Given the description of an element on the screen output the (x, y) to click on. 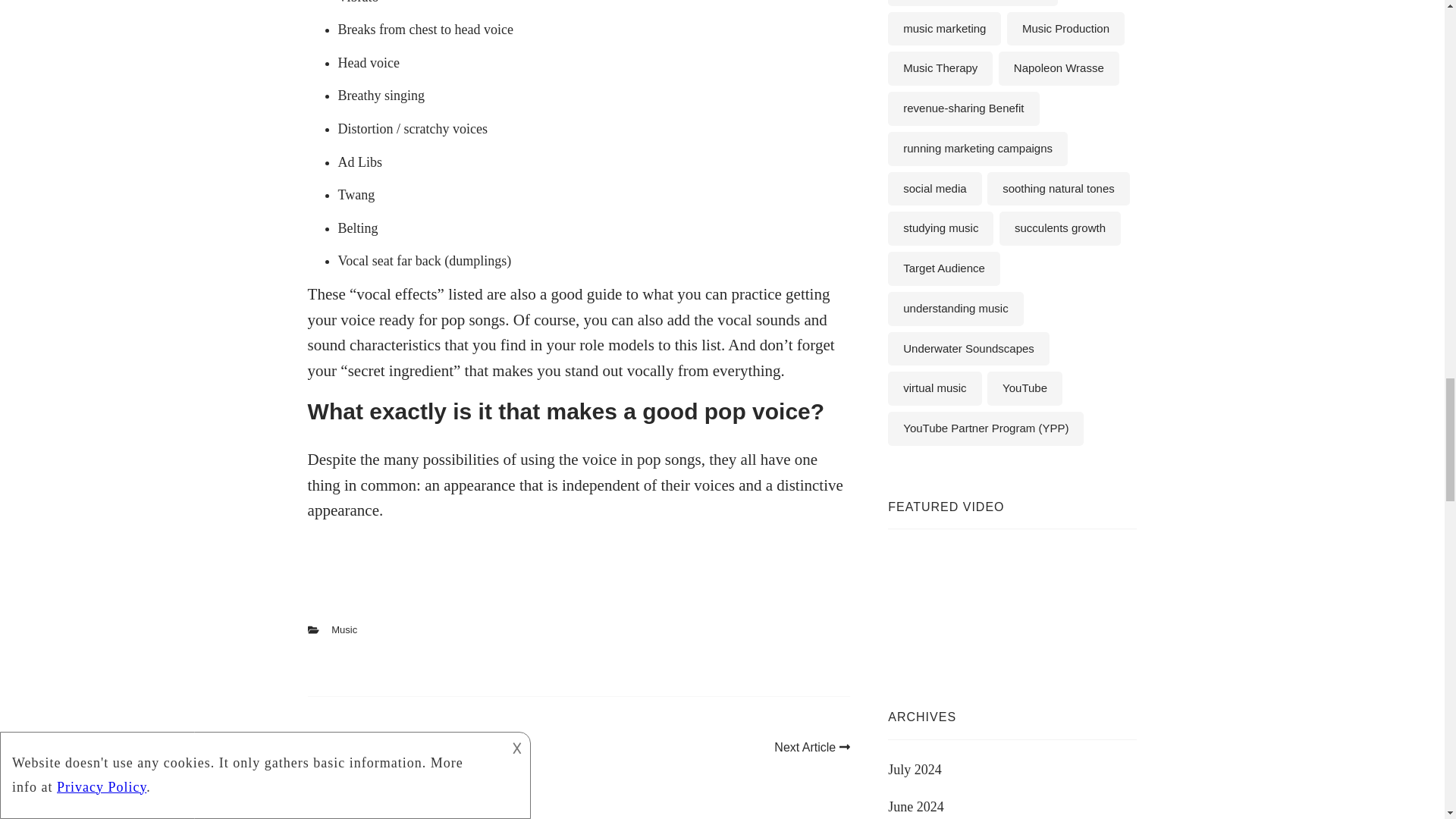
YouTube video player (1001, 604)
Next Article (812, 747)
Music (343, 629)
Previous Article (356, 747)
